Given the description of an element on the screen output the (x, y) to click on. 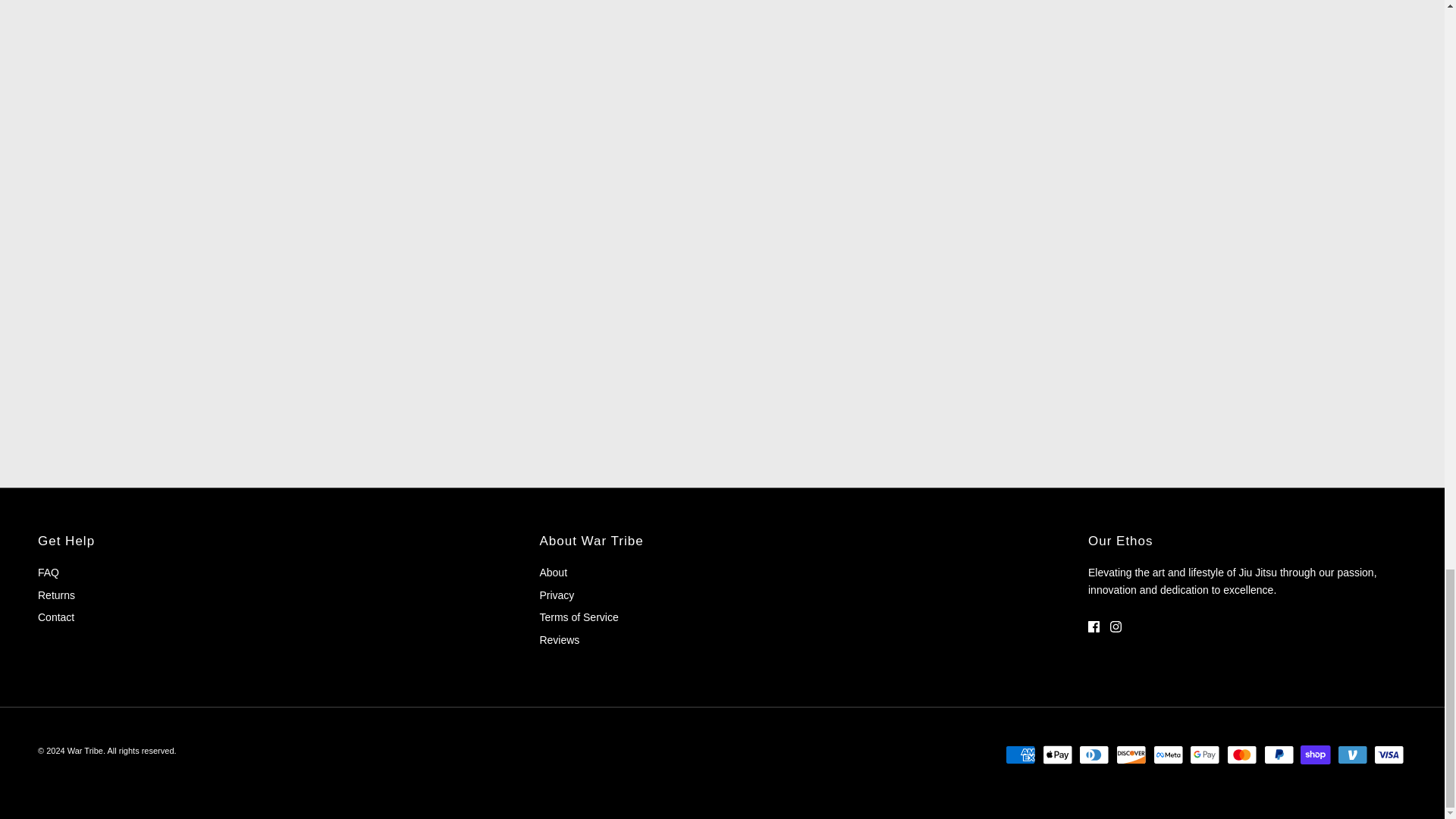
Venmo (1352, 754)
Google Pay (1204, 754)
Mastercard (1241, 754)
Visa (1388, 754)
Meta Pay (1168, 754)
Shop Pay (1315, 754)
Apple Pay (1057, 754)
Diners Club (1093, 754)
Discover (1130, 754)
PayPal (1277, 754)
Instagram (1115, 626)
Facebook (1093, 626)
American Express (1020, 754)
